Given the description of an element on the screen output the (x, y) to click on. 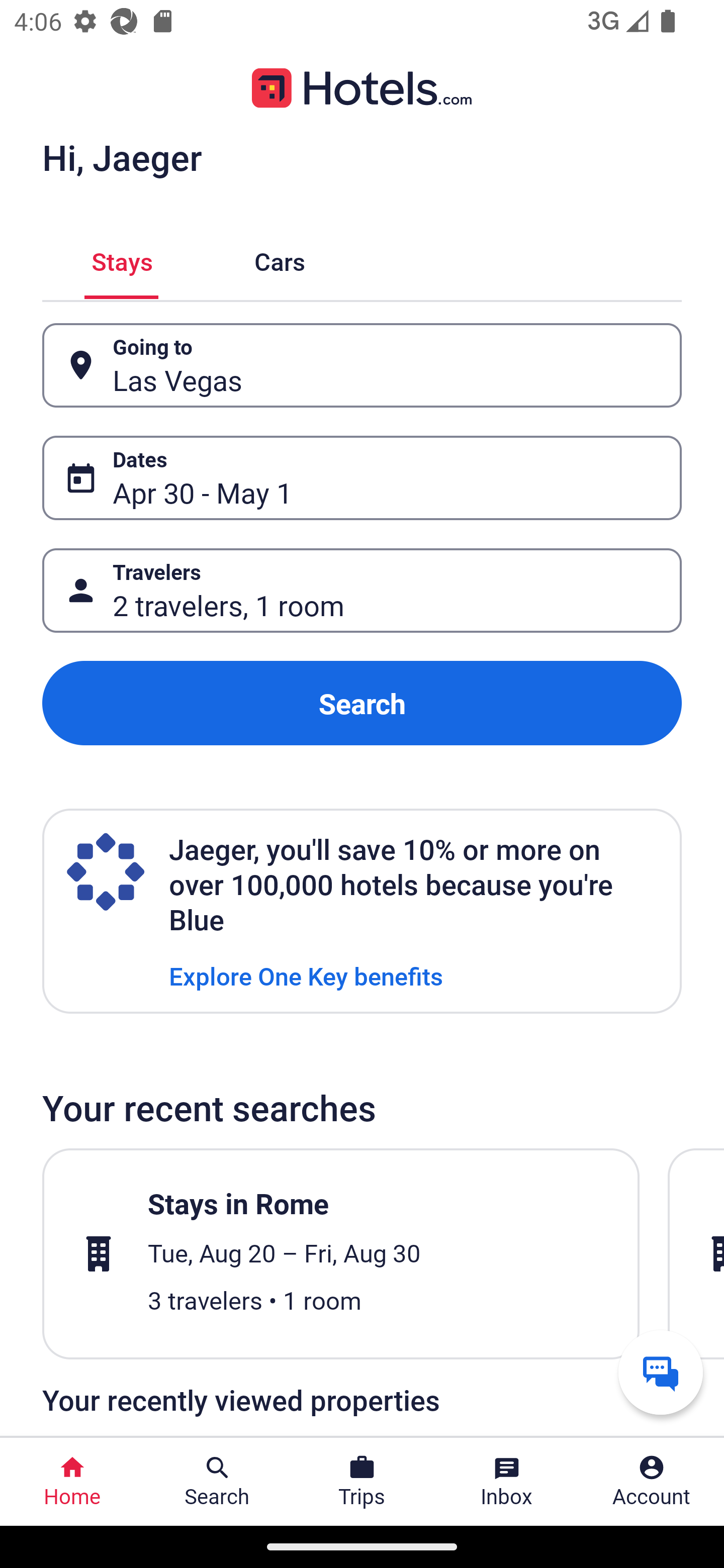
Hi, Jaeger (121, 156)
Cars (279, 259)
Going to Button Las Vegas (361, 365)
Dates Button Apr 30 - May 1 (361, 477)
Travelers Button 2 travelers, 1 room (361, 590)
Search (361, 702)
Get help from a virtual agent (660, 1371)
Search Search Button (216, 1481)
Trips Trips Button (361, 1481)
Inbox Inbox Button (506, 1481)
Account Profile. Button (651, 1481)
